Given the description of an element on the screen output the (x, y) to click on. 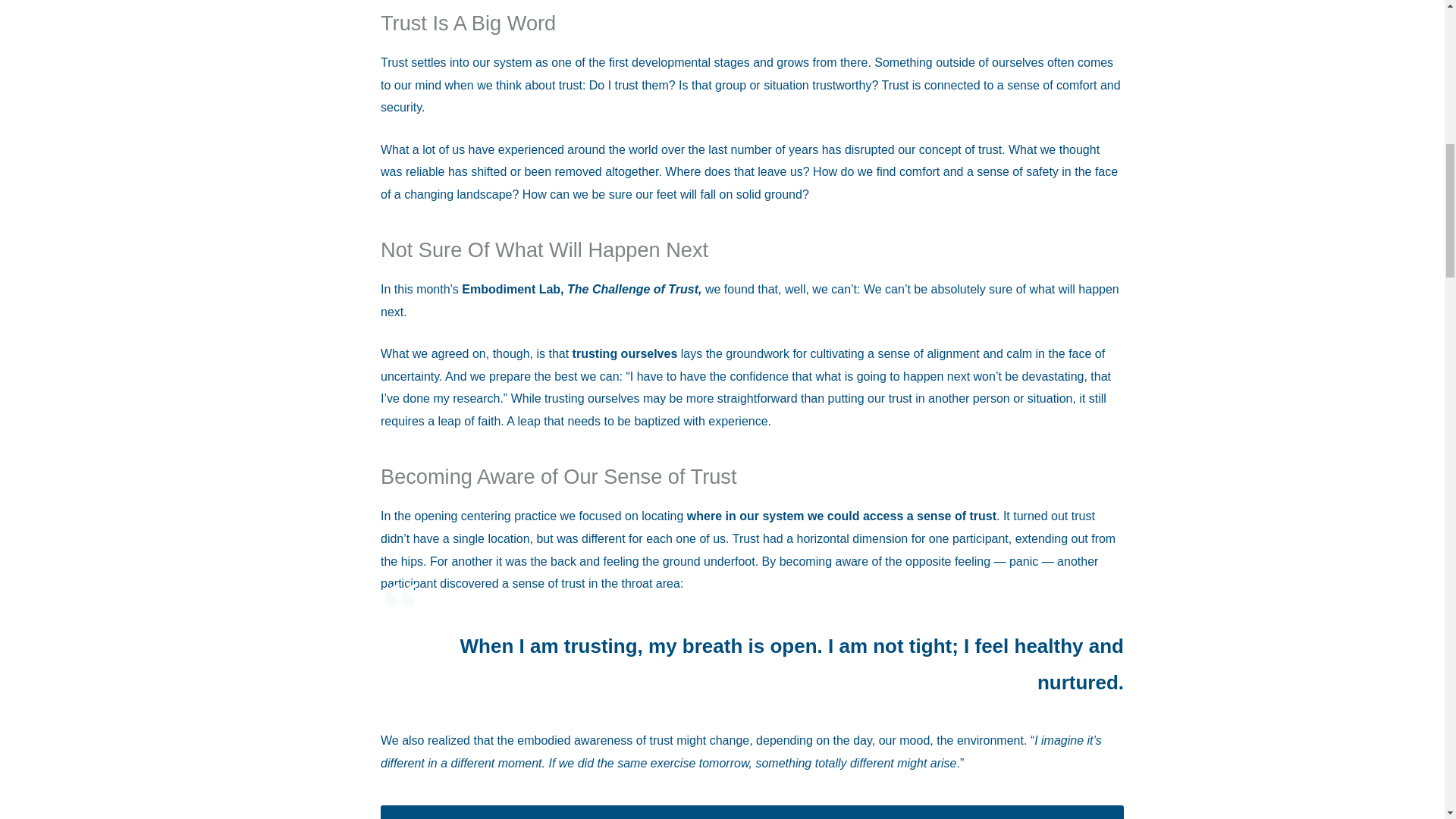
Embodiment Lab, (512, 288)
